Given the description of an element on the screen output the (x, y) to click on. 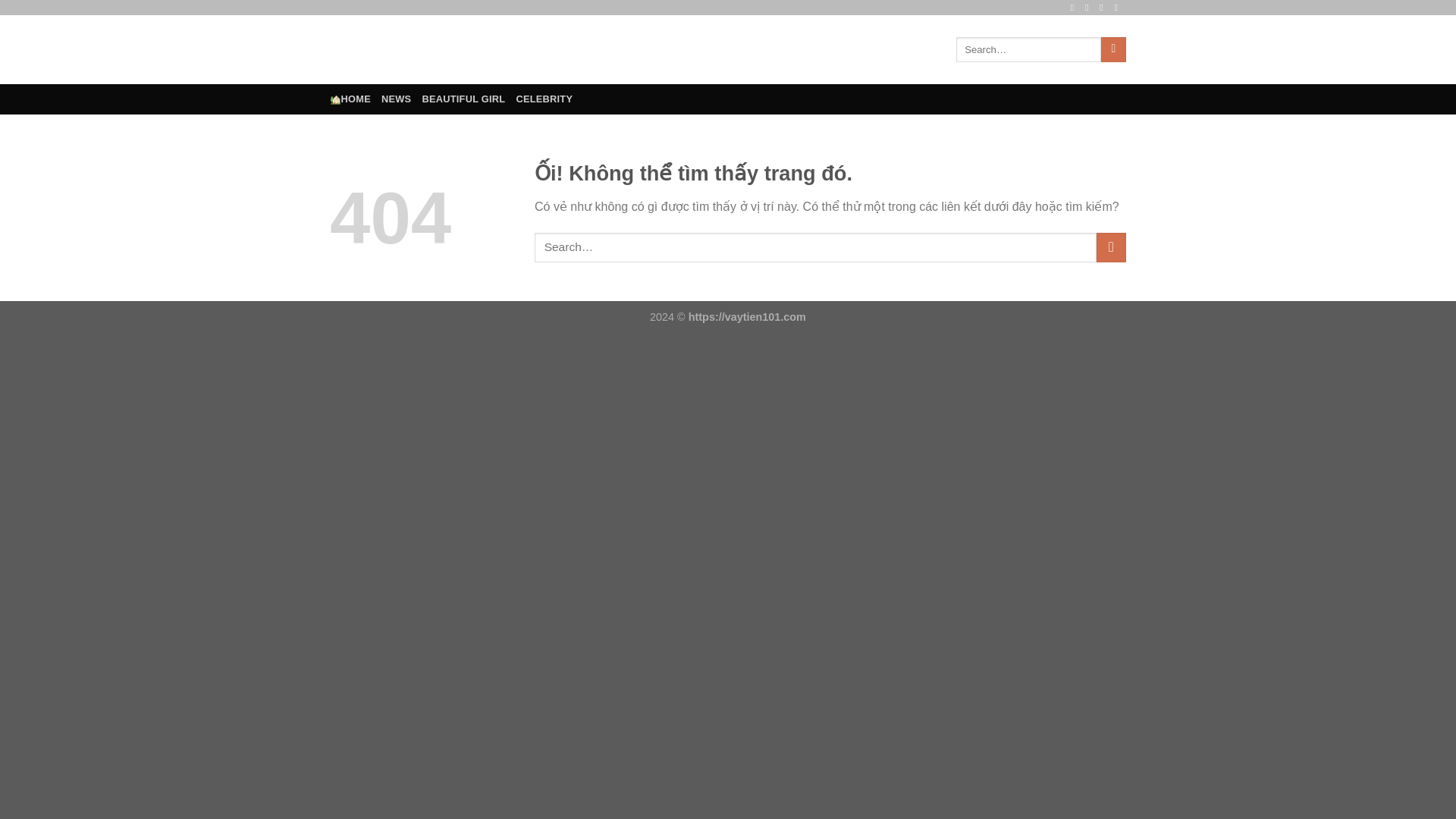
WORLD OF BEAUTIFUL GIRLS (569, 49)
NEWS (395, 99)
CELEBRITY (543, 99)
HOME (350, 99)
WORLD OF BEAUTIFUL GIRLS (569, 49)
BEAUTIFUL GIRL (463, 99)
